Given the description of an element on the screen output the (x, y) to click on. 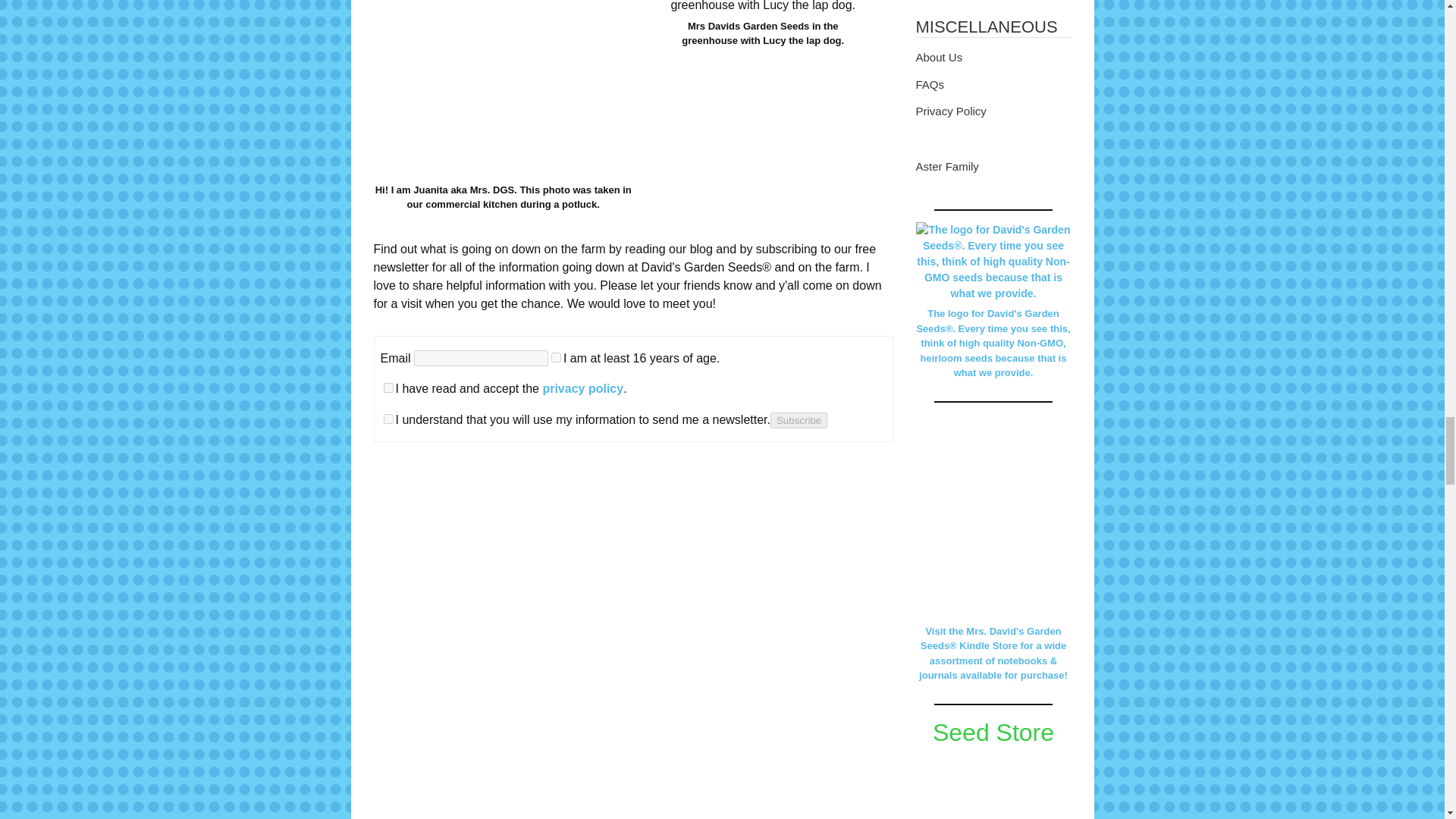
on (555, 356)
on (388, 419)
Subscribe (798, 420)
privacy policy (582, 388)
on (388, 388)
